Given the description of an element on the screen output the (x, y) to click on. 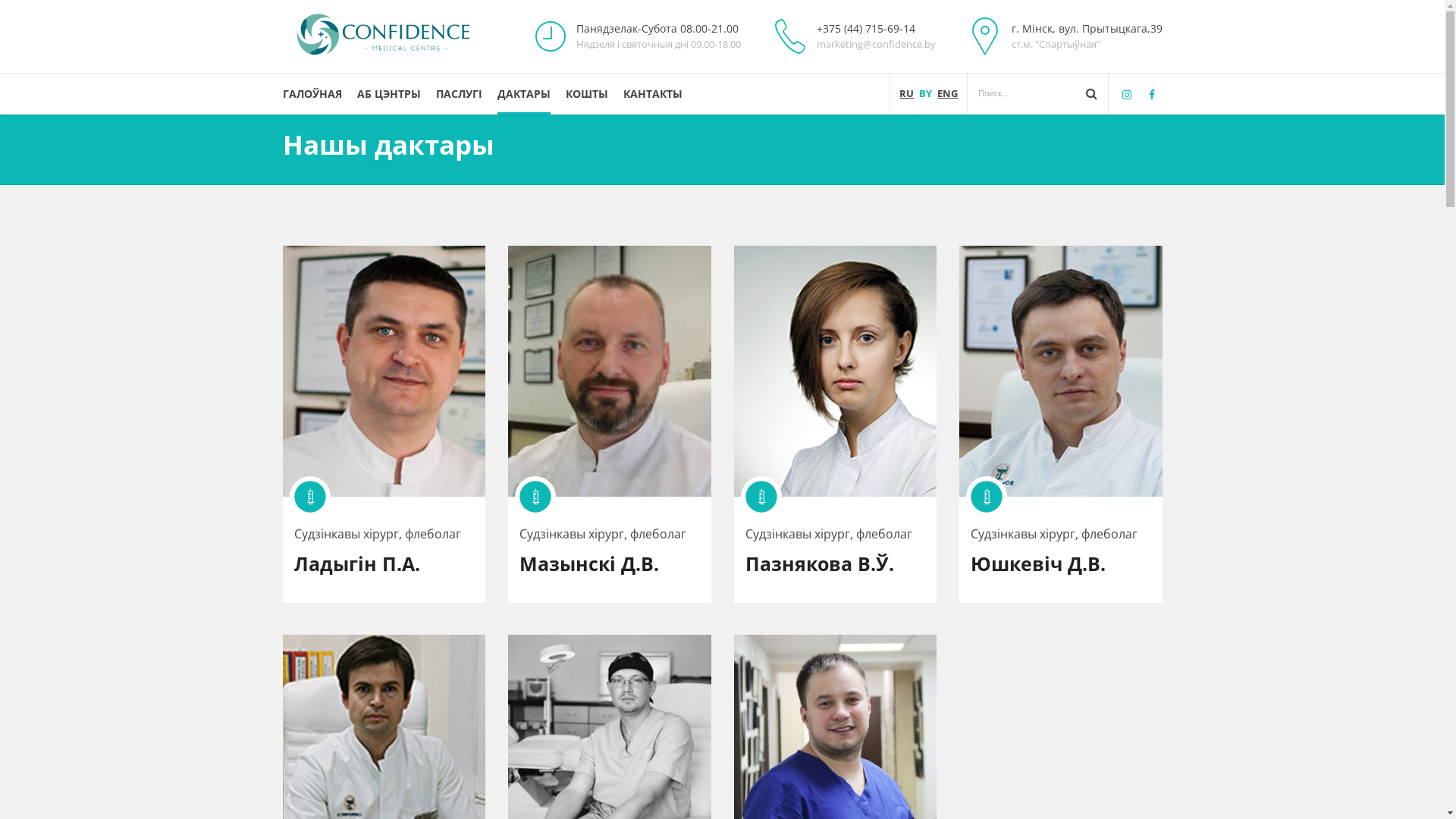
RU Element type: text (906, 93)
ENG Element type: text (947, 93)
